Given the description of an element on the screen output the (x, y) to click on. 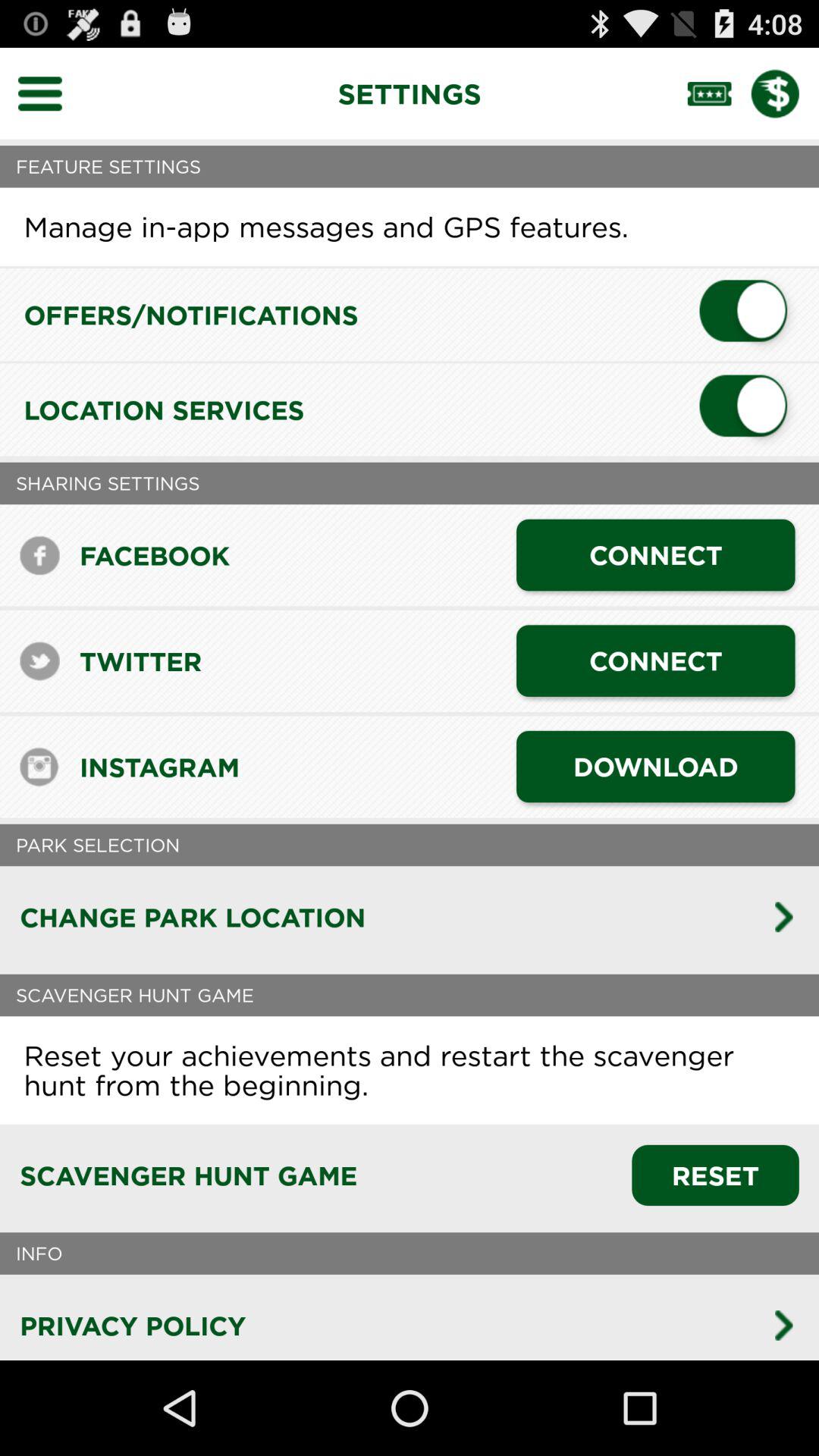
switch location service (749, 409)
